Given the description of an element on the screen output the (x, y) to click on. 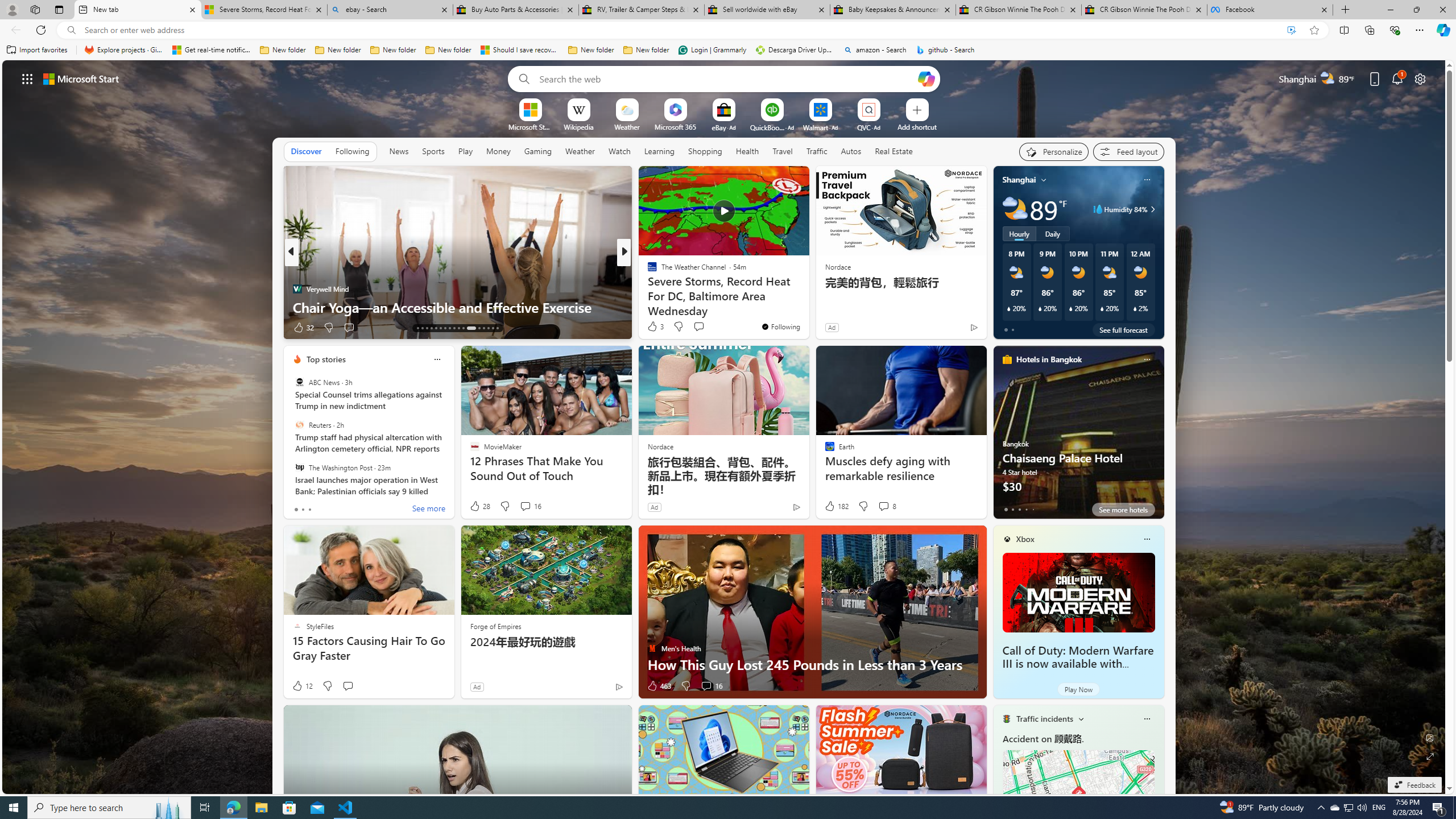
Travel (782, 151)
ABC News (299, 382)
AutomationID: tab-24 (471, 328)
AutomationID: backgroundImagePicture (723, 426)
Hotels in Bangkok (1048, 359)
Las Vegas Strip visitors face outrageous new fee (807, 307)
99 Like (652, 327)
More Options (886, 101)
Sell worldwide with eBay (766, 9)
View comments 167 Comment (703, 327)
